Given the description of an element on the screen output the (x, y) to click on. 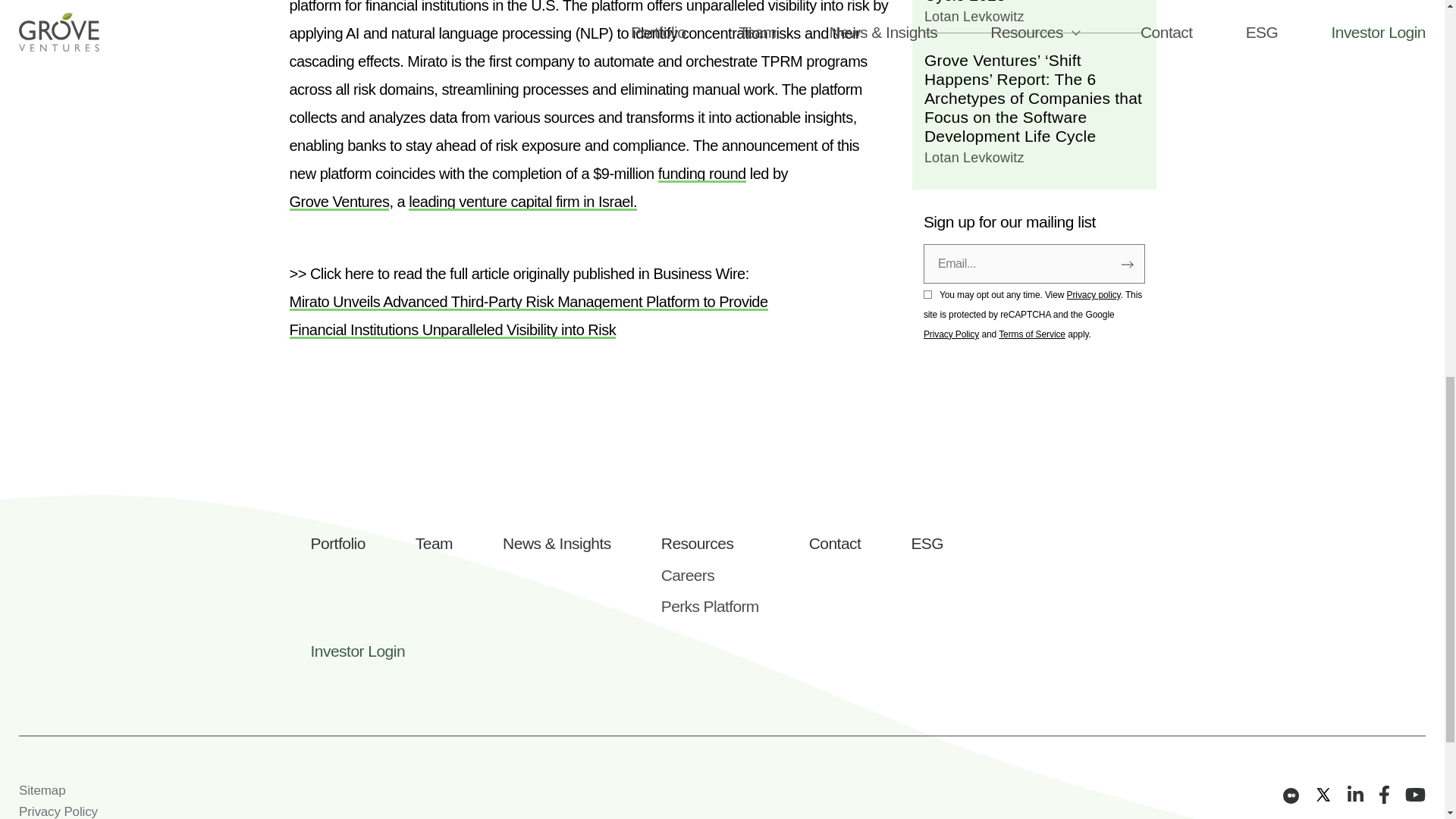
Grove Ventures (339, 201)
ESG (927, 542)
Privacy policy (1094, 30)
Portfolio (338, 542)
Submit (1127, 2)
Privacy Policy (950, 70)
funding round (701, 173)
Perks Platform (709, 606)
Contact (835, 542)
